Given the description of an element on the screen output the (x, y) to click on. 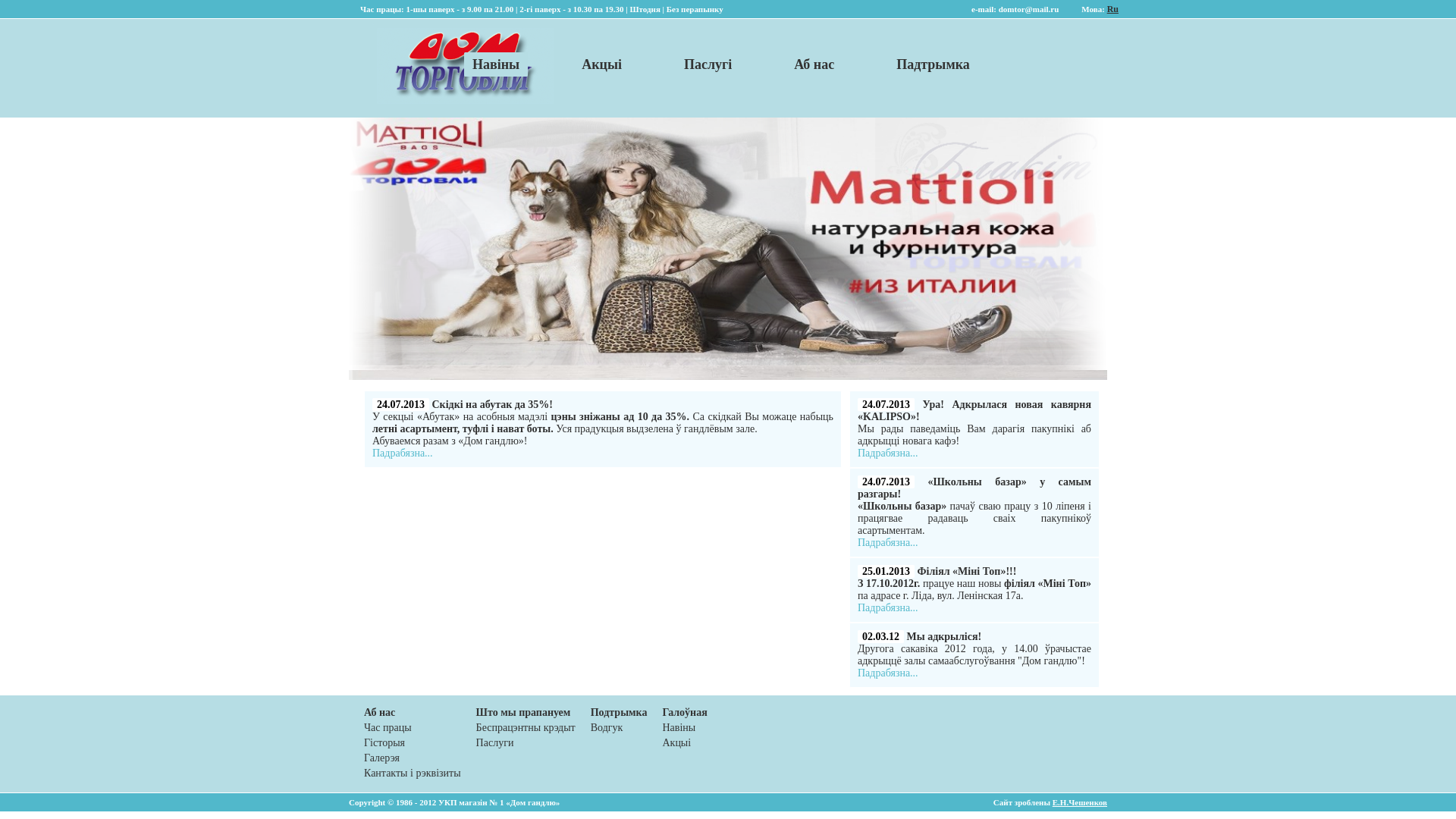
Ru Element type: text (1112, 8)
